Given the description of an element on the screen output the (x, y) to click on. 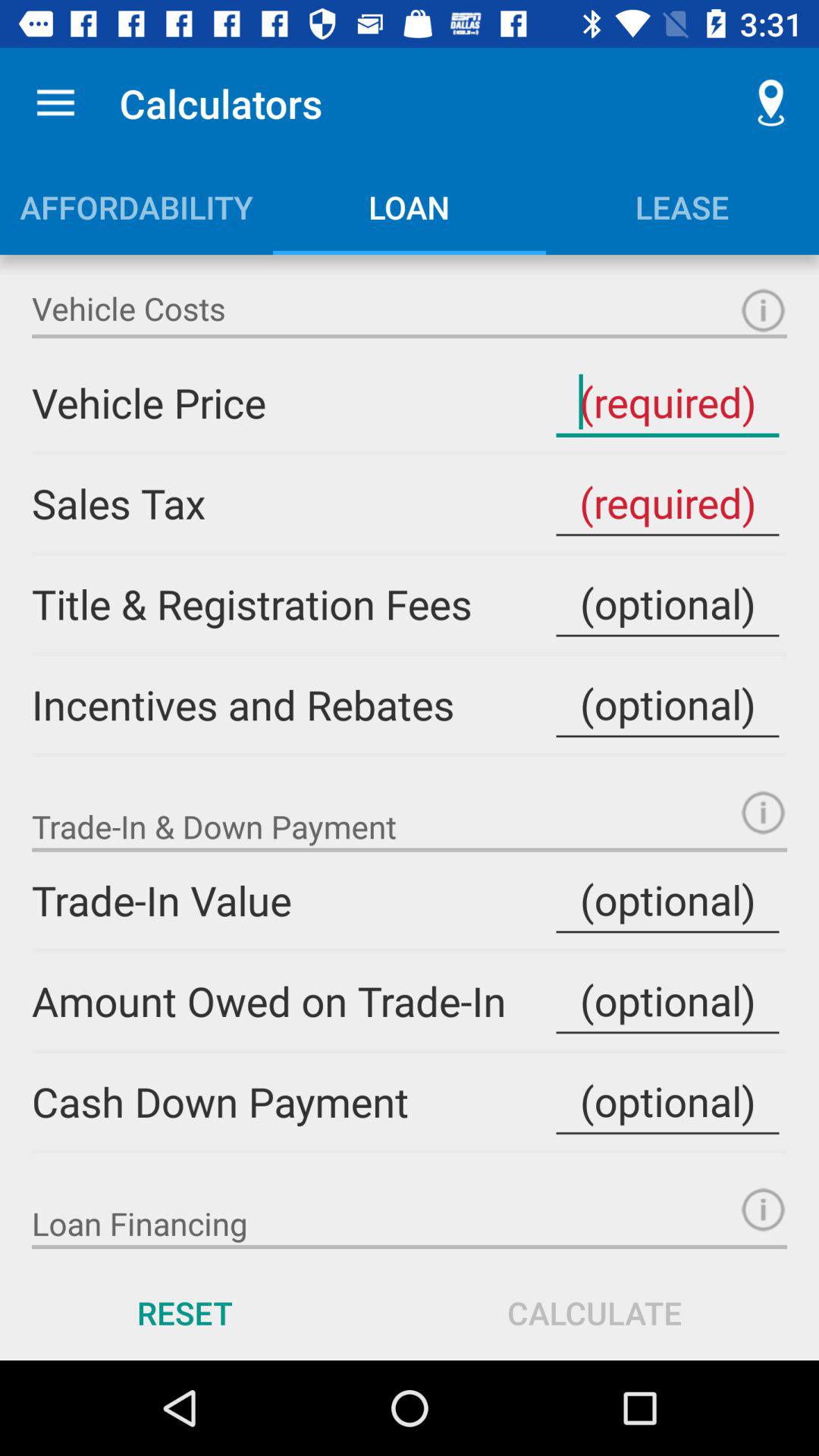
swipe to calculate icon (594, 1312)
